Given the description of an element on the screen output the (x, y) to click on. 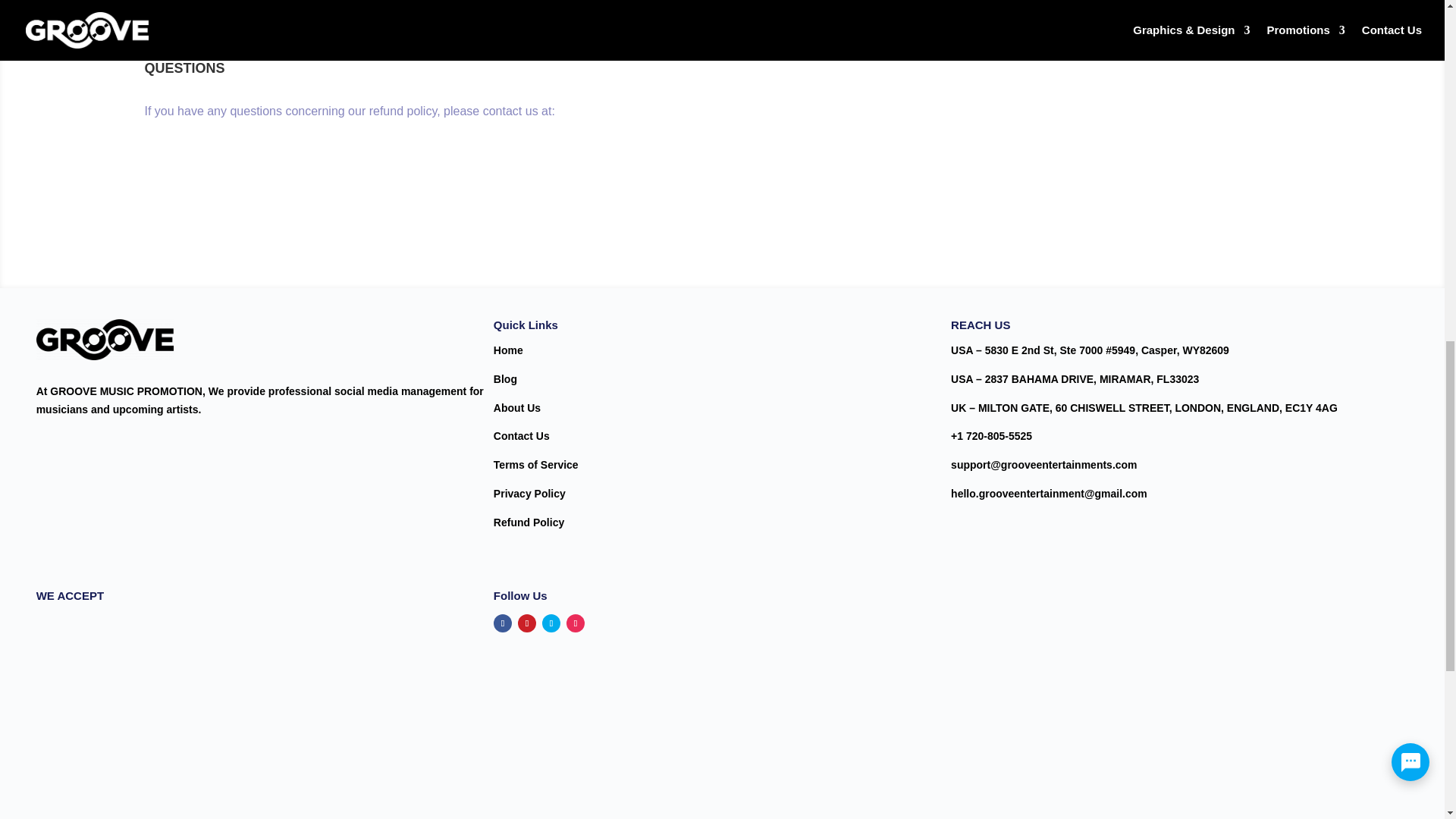
Follow on Facebook (502, 623)
Follow on Instagram (575, 623)
Follow on Twitter (550, 623)
Follow on Pinterest (526, 623)
groove music promotion (104, 339)
